Given the description of an element on the screen output the (x, y) to click on. 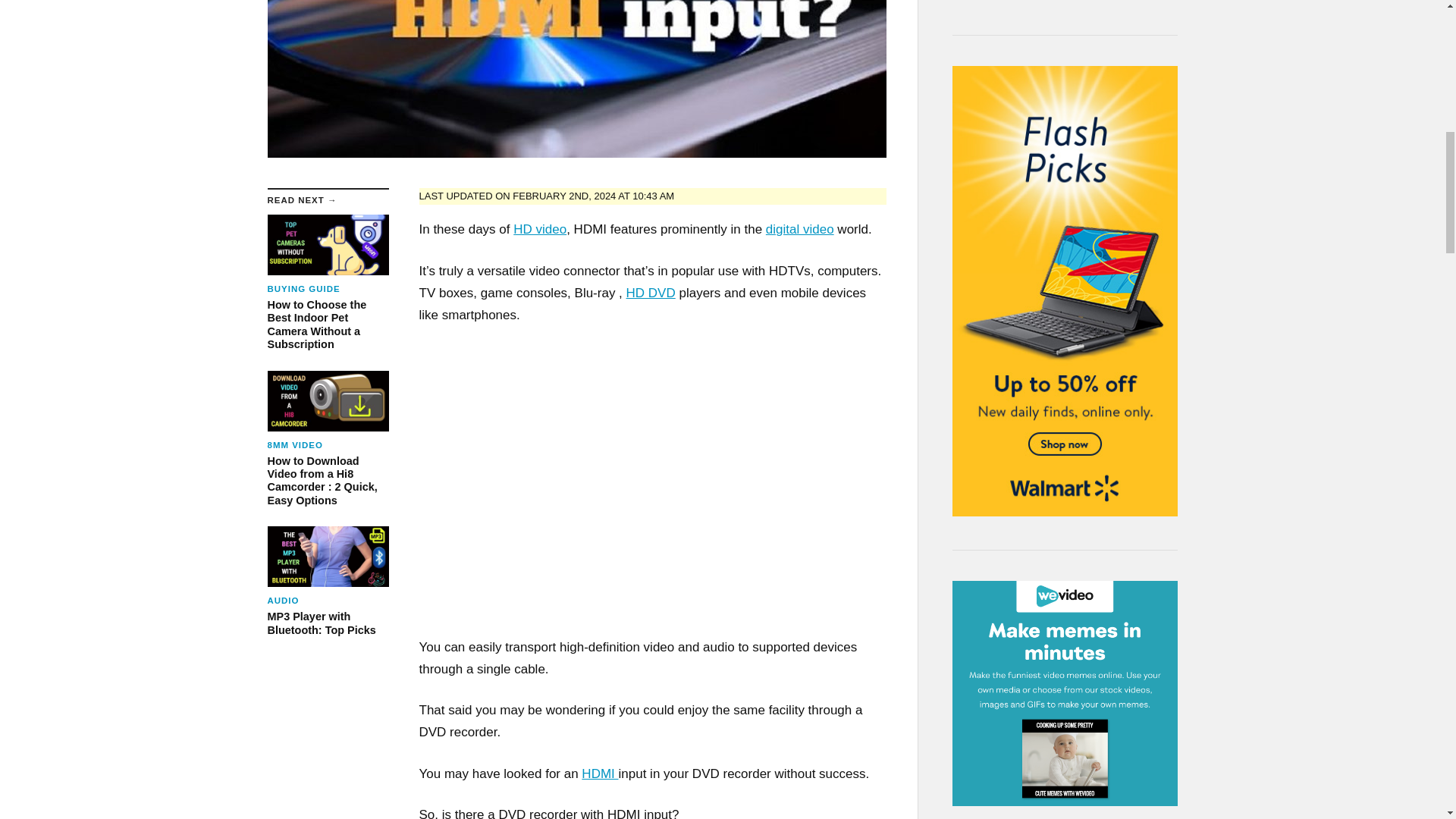
HD DVD (327, 581)
HDMI (650, 292)
HD video (598, 773)
digital video (539, 228)
